Given the description of an element on the screen output the (x, y) to click on. 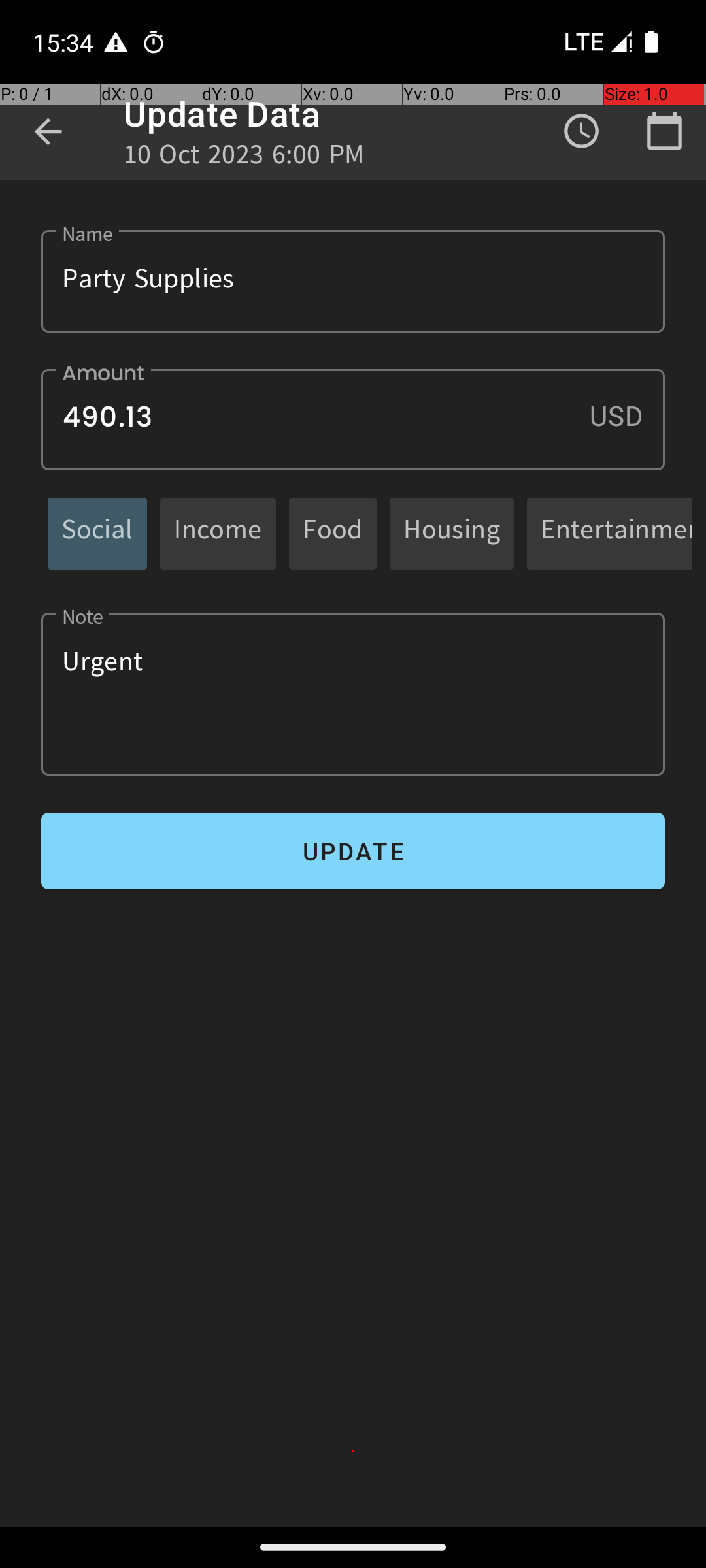
Update Data Element type: android.widget.TextView (221, 113)
10 Oct 2023 6:00 PM Element type: android.widget.TextView (244, 157)
Party Supplies Element type: android.widget.EditText (352, 280)
490.13 Element type: android.widget.EditText (352, 419)
Urgent Element type: android.widget.EditText (352, 693)
UPDATE Element type: android.widget.Button (352, 850)
